Given the description of an element on the screen output the (x, y) to click on. 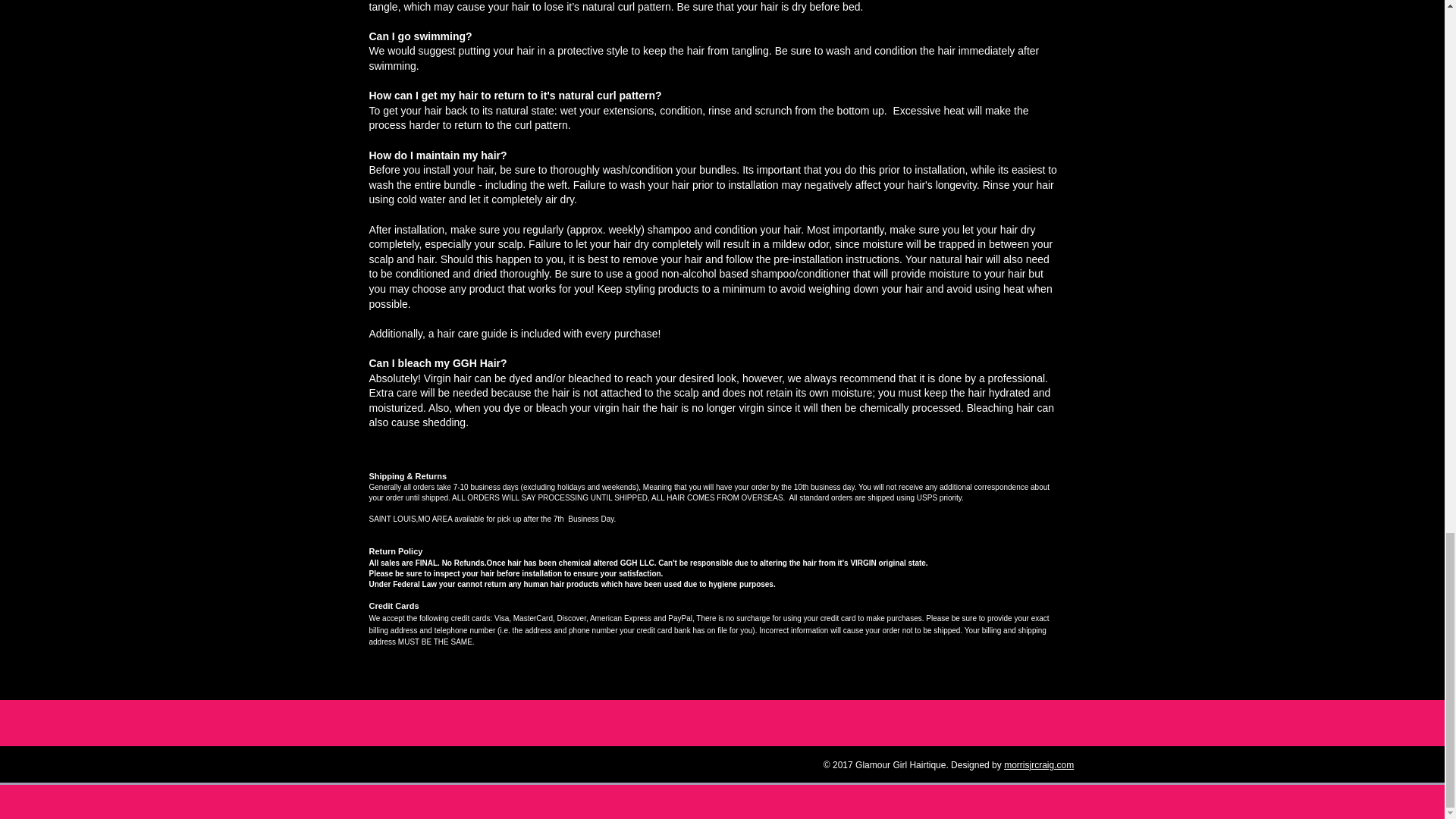
morrisjrcraig.com (1039, 765)
